Given the description of an element on the screen output the (x, y) to click on. 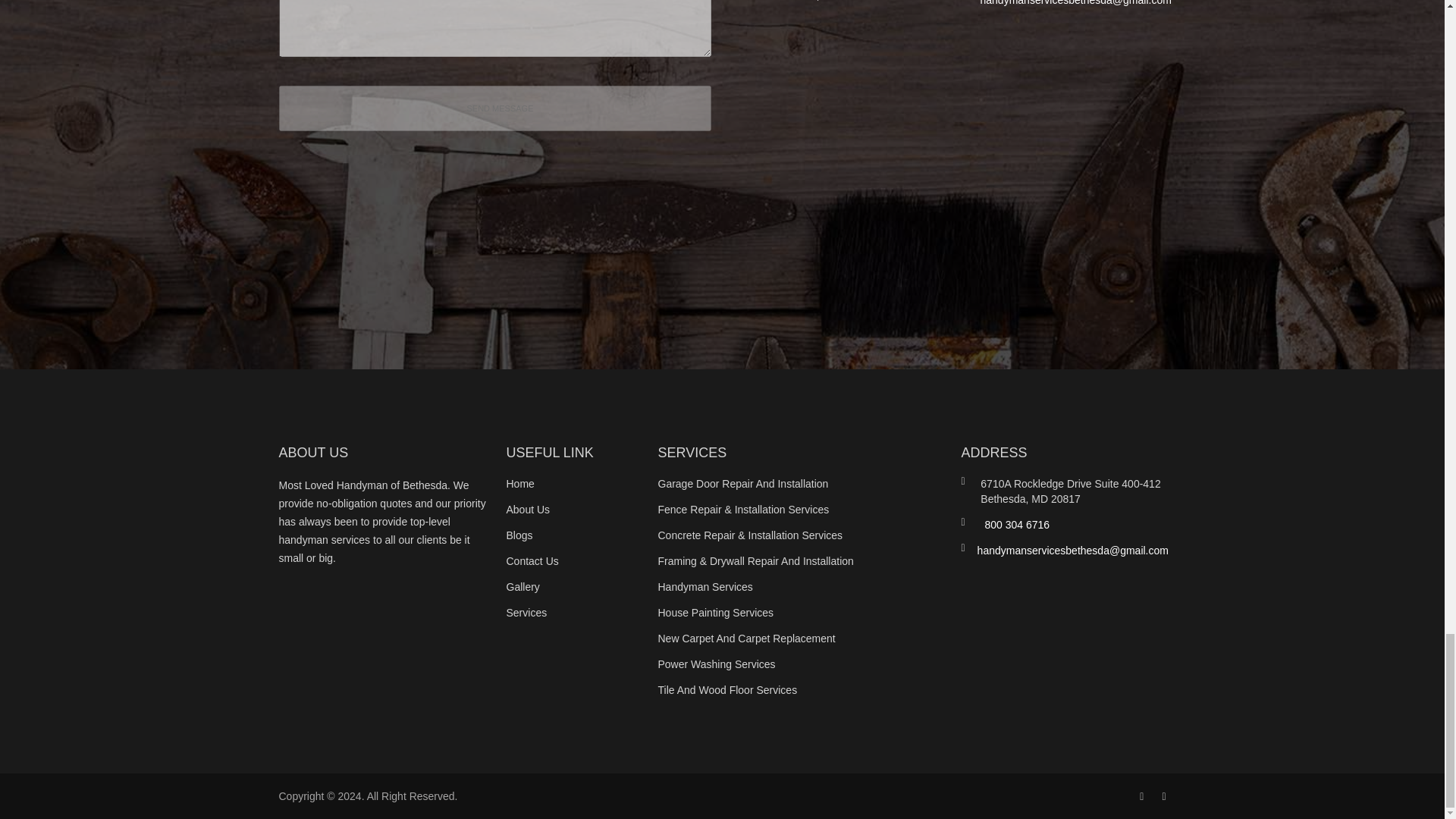
Send message (495, 108)
